Given the description of an element on the screen output the (x, y) to click on. 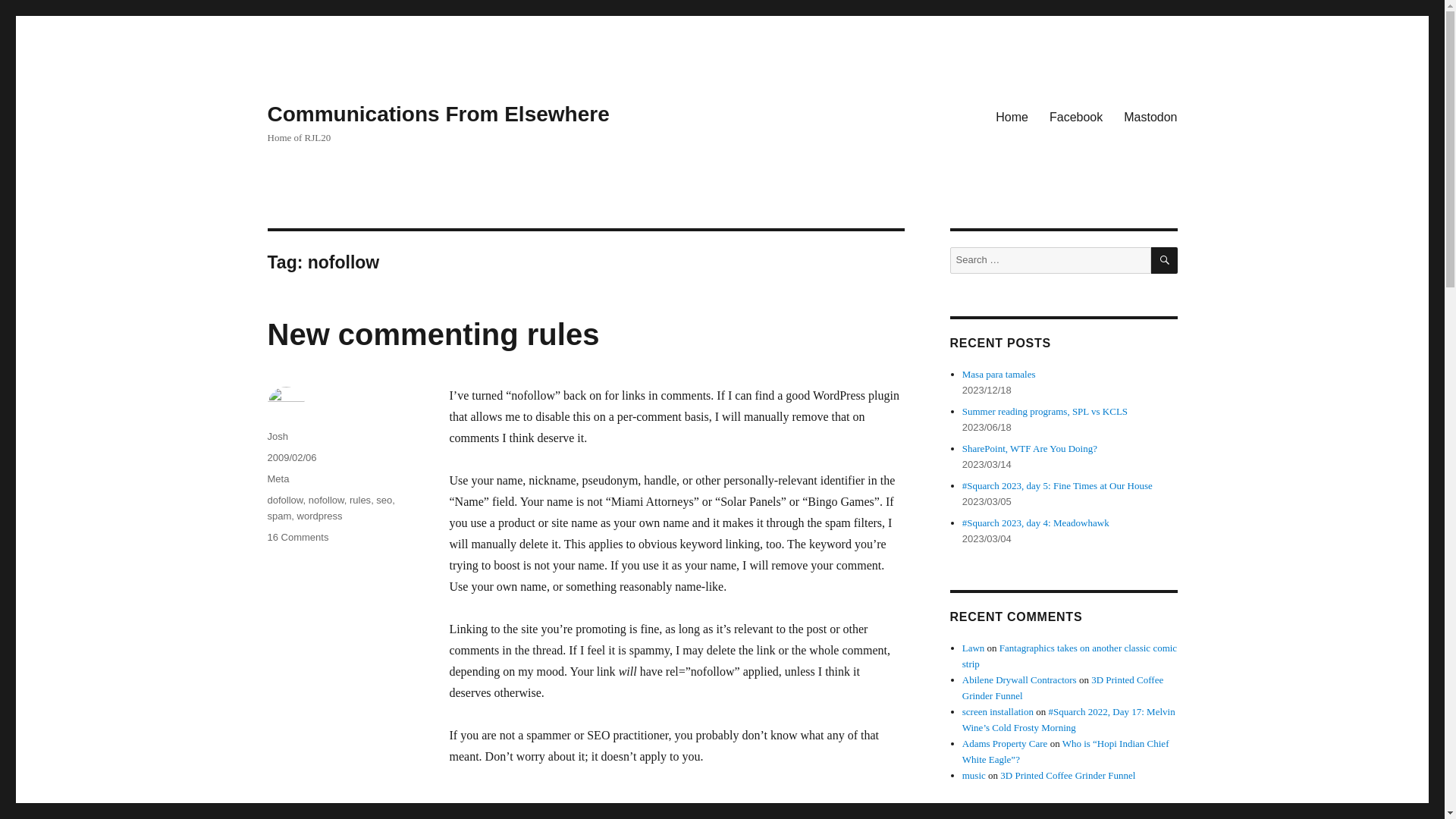
spam (278, 515)
New commenting rules (432, 334)
Josh (276, 436)
wordpress (319, 515)
Meta (277, 478)
Home (1012, 116)
nofollow (325, 500)
rules (360, 500)
dofollow (297, 536)
seo (284, 500)
Facebook (383, 500)
Communications From Elsewhere (1076, 116)
Mastodon (437, 114)
